Given the description of an element on the screen output the (x, y) to click on. 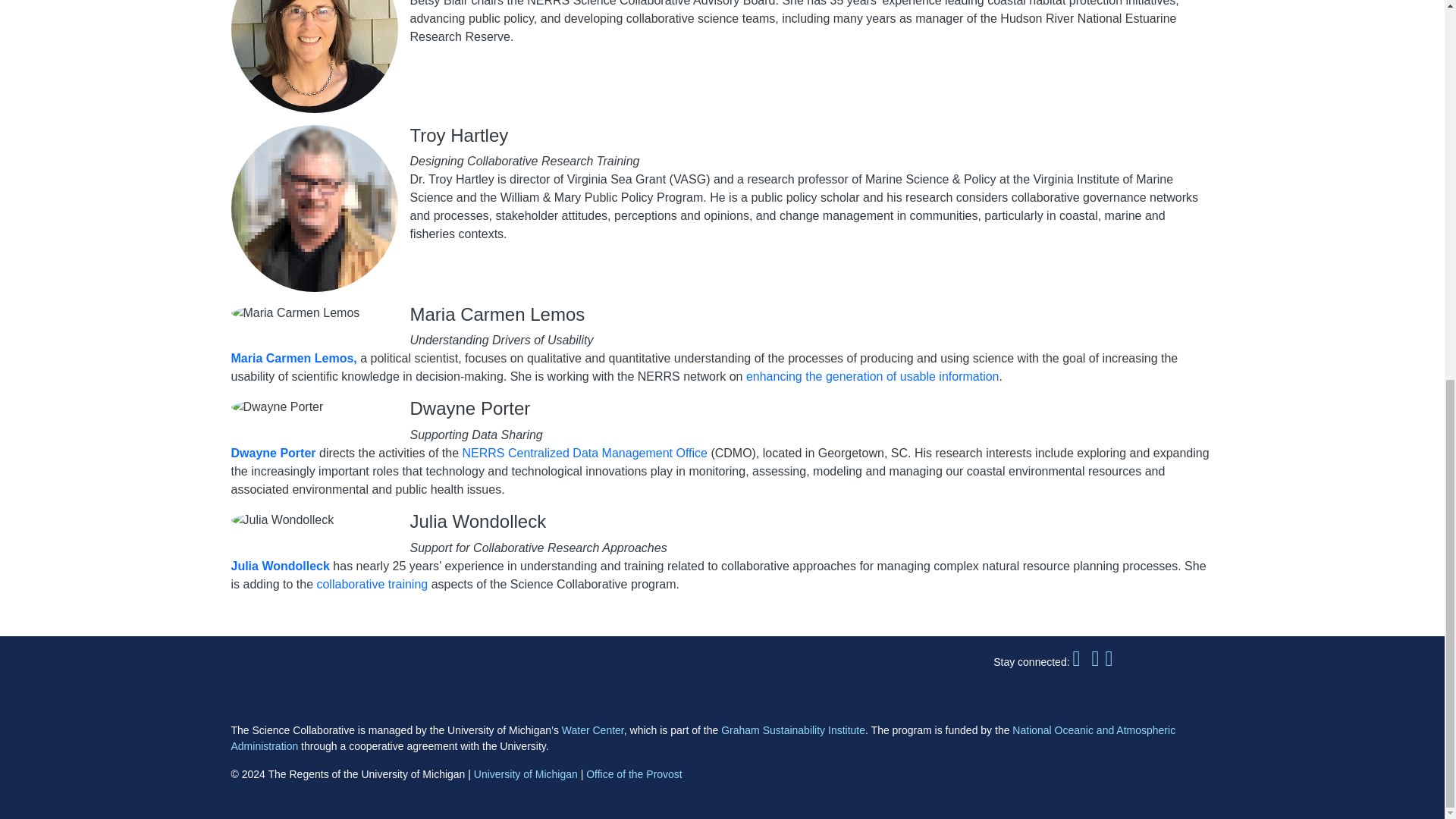
NOAA (387, 673)
